Given the description of an element on the screen output the (x, y) to click on. 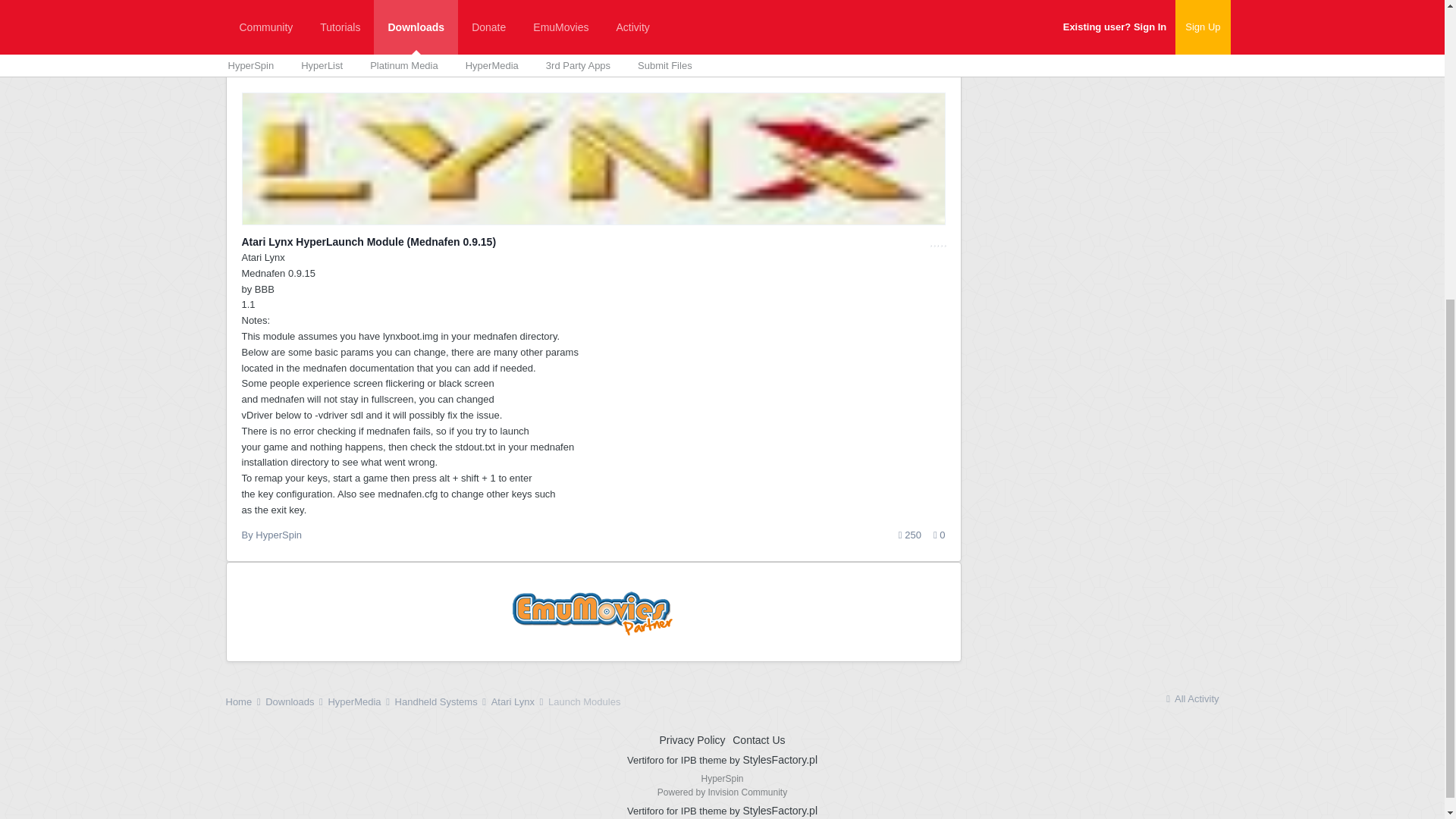
Home (244, 701)
Invision Community (722, 792)
Go to HyperSpin's profile (278, 534)
Downloads (909, 534)
Comments (938, 534)
